Given the description of an element on the screen output the (x, y) to click on. 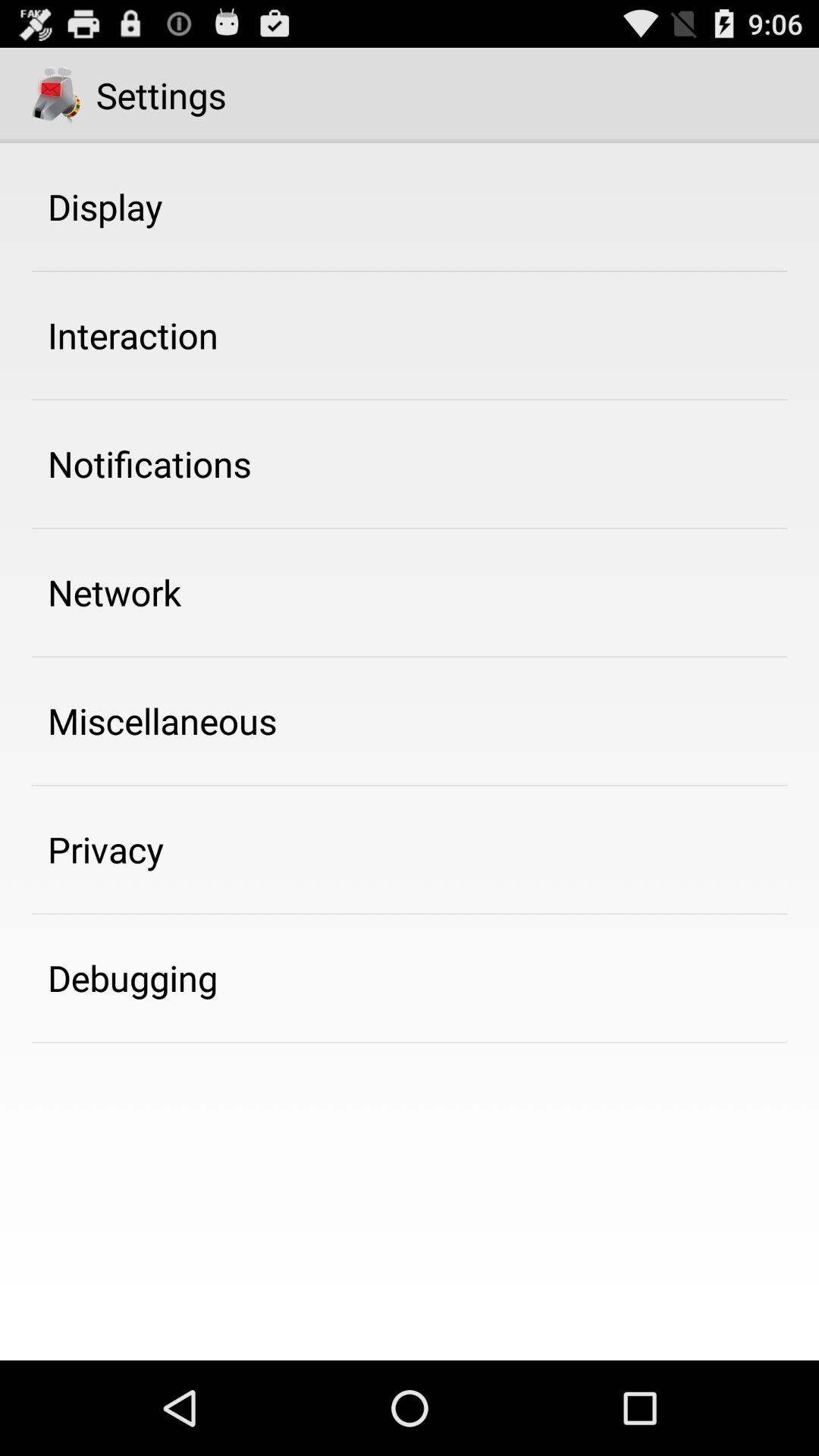
choose item above privacy (161, 720)
